Given the description of an element on the screen output the (x, y) to click on. 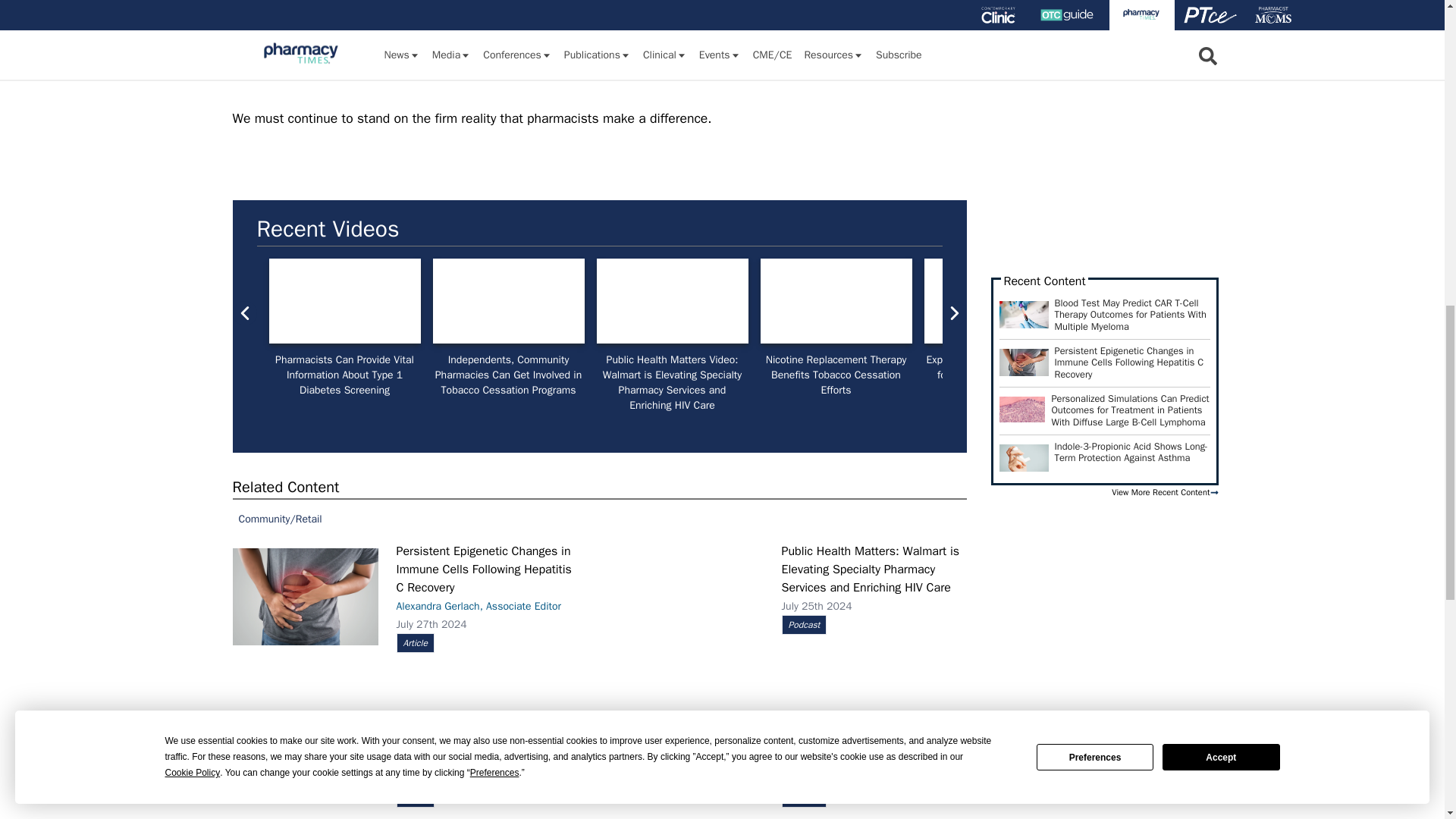
Expanded Technician Roles Call for Defined Career Ladders (999, 300)
